Given the description of an element on the screen output the (x, y) to click on. 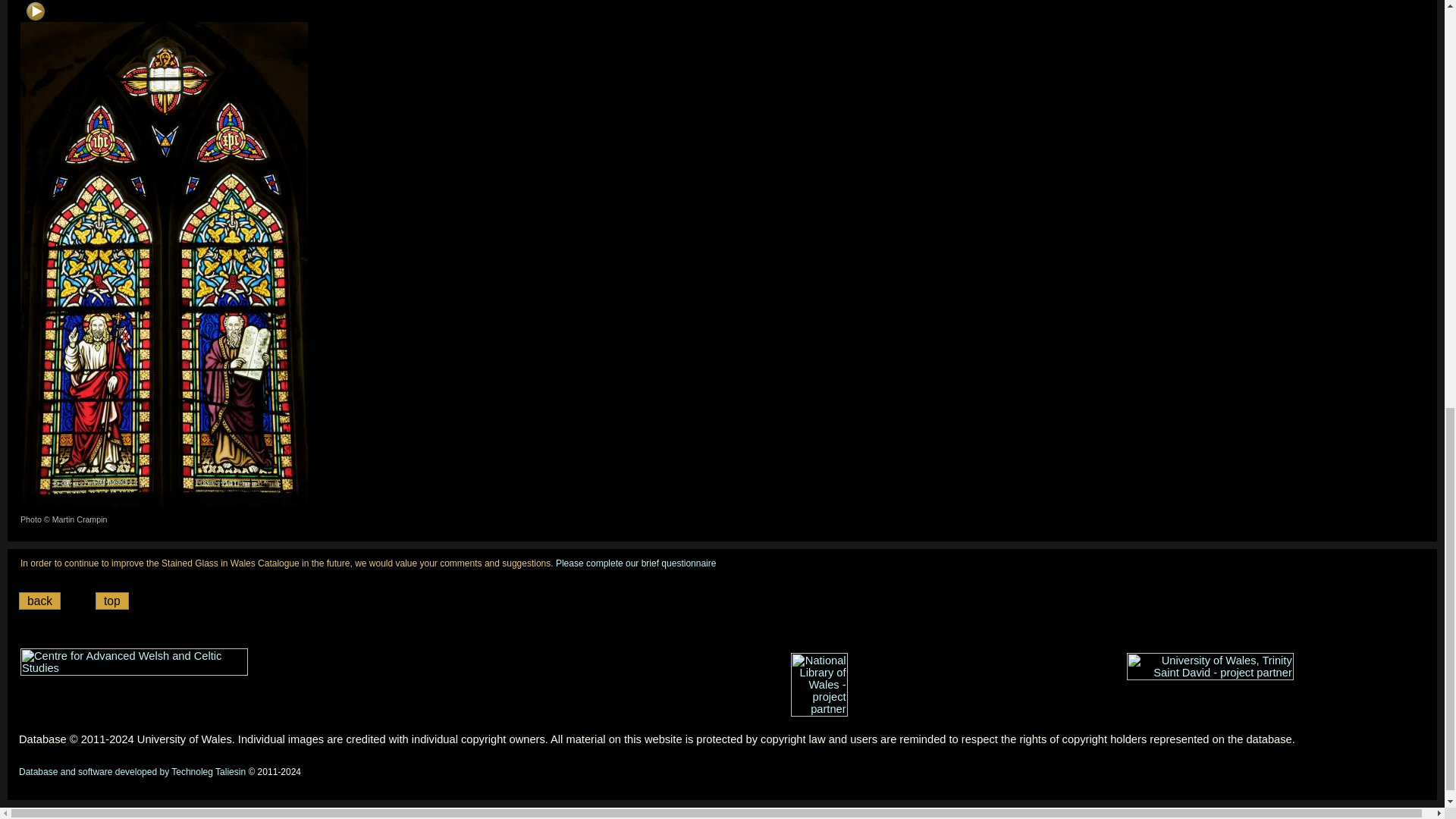
next image (35, 11)
National Library of Wales - project partner (818, 684)
University of Wales, Trinity Saint David - project partner (1210, 666)
Centre for Advanced Welsh and Celtic Studies (133, 661)
